Given the description of an element on the screen output the (x, y) to click on. 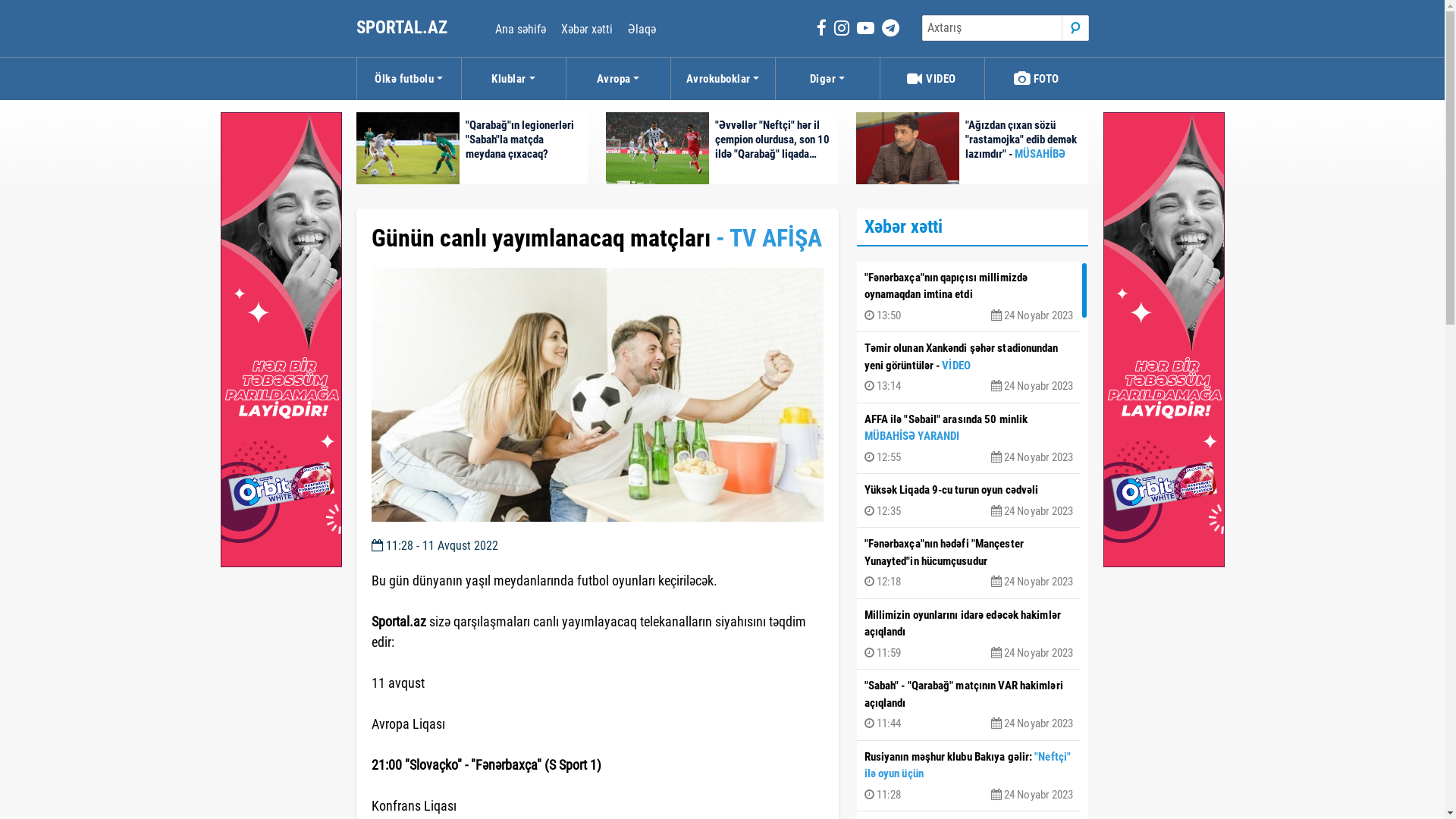
SPORTAL.AZ Element type: text (403, 27)
Avropa Element type: text (617, 78)
Klublar Element type: text (512, 78)
VIDEO Element type: text (931, 78)
FOTO Element type: text (1036, 78)
Avrokuboklar Element type: text (722, 78)
